Given the description of an element on the screen output the (x, y) to click on. 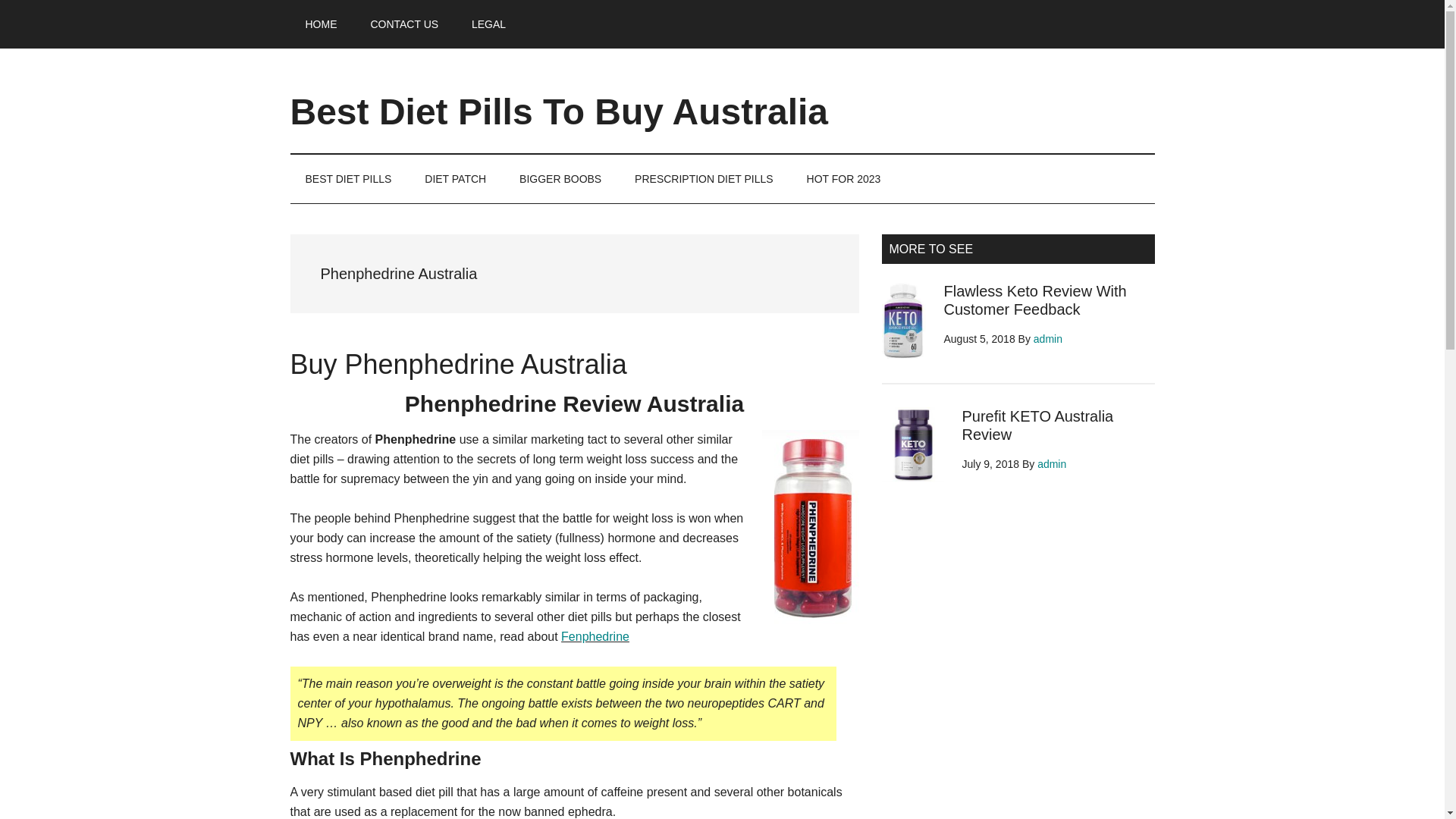
Purefit KETO Australia Review (1036, 425)
CONTACT US (403, 24)
admin (1047, 338)
PRESCRIPTION DIET PILLS (704, 178)
Best Diet Pills To Buy Australia (558, 111)
BIGGER BOOBS (559, 178)
LEGAL (489, 24)
Fenphedrine (594, 635)
Buy Phenphedrine Australia (457, 364)
